Given the description of an element on the screen output the (x, y) to click on. 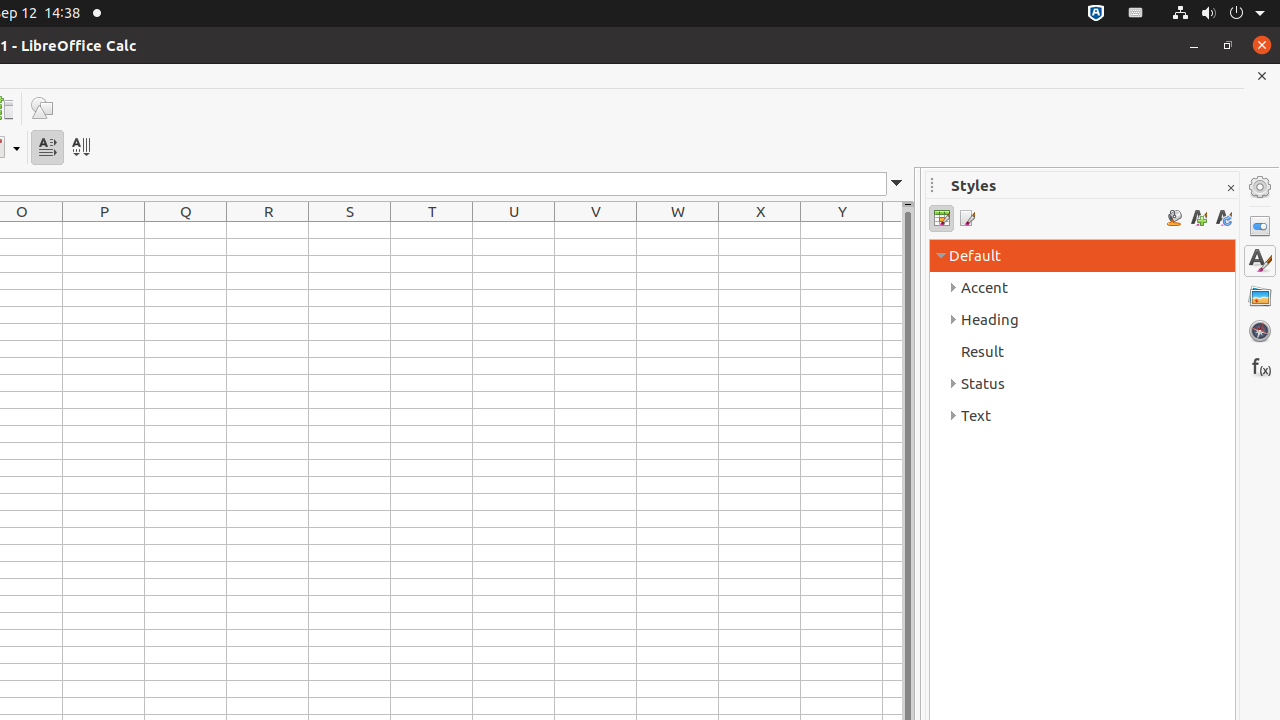
Q1 Element type: table-cell (186, 230)
Draw Functions Element type: toggle-button (41, 108)
Styles Element type: radio-button (1260, 261)
Expand Formula Bar Element type: push-button (897, 183)
Cell Styles Element type: push-button (941, 218)
